Given the description of an element on the screen output the (x, y) to click on. 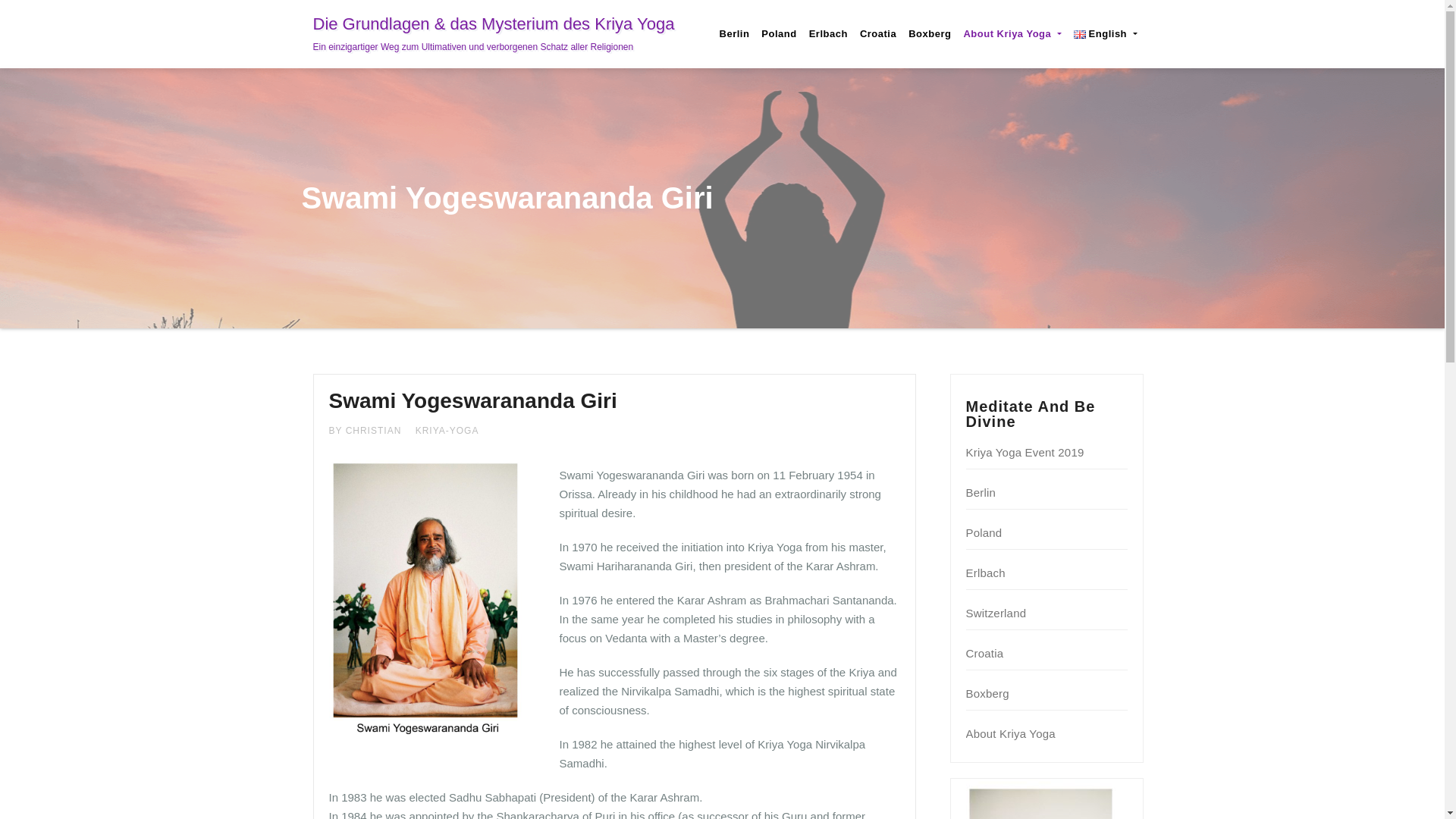
Swami Yogeswarananda Giri (473, 400)
Poland (984, 532)
Erlbach (986, 572)
English (1104, 33)
BY CHRISTIAN (366, 430)
About Kriya Yoga (1011, 33)
About Kriya Yoga (1011, 33)
Switzerland (996, 612)
Kriya Yoga Event 2019 (1025, 451)
Berlin (980, 492)
KRIYA-YOGA (446, 430)
